Given the description of an element on the screen output the (x, y) to click on. 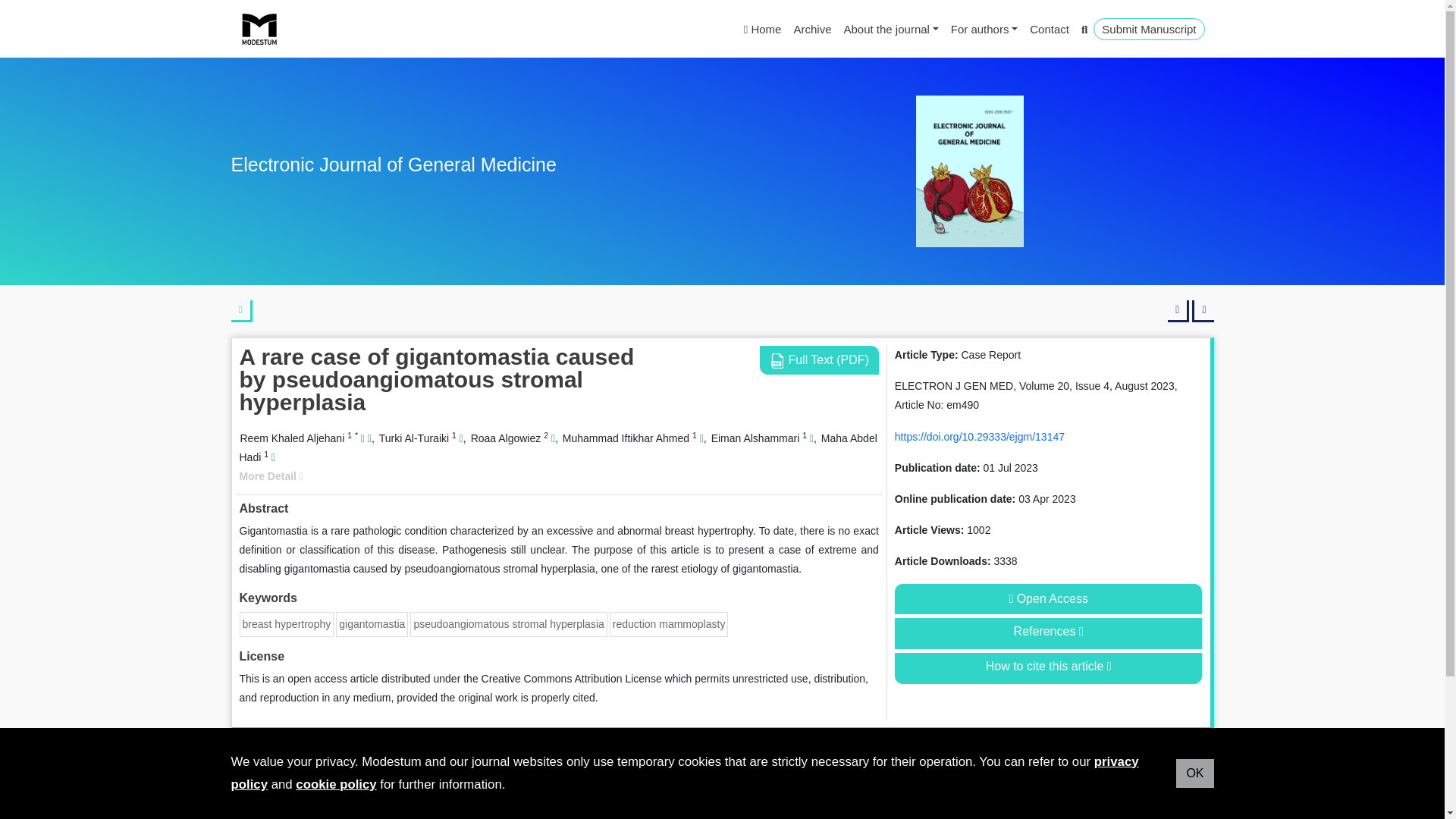
Home (762, 28)
Contact (1049, 28)
Back to article list (240, 311)
Next article (1202, 311)
Archive (812, 28)
For authors (984, 28)
Submit Manuscript (1148, 29)
About the journal (890, 28)
Previous article (1178, 311)
